Given the description of an element on the screen output the (x, y) to click on. 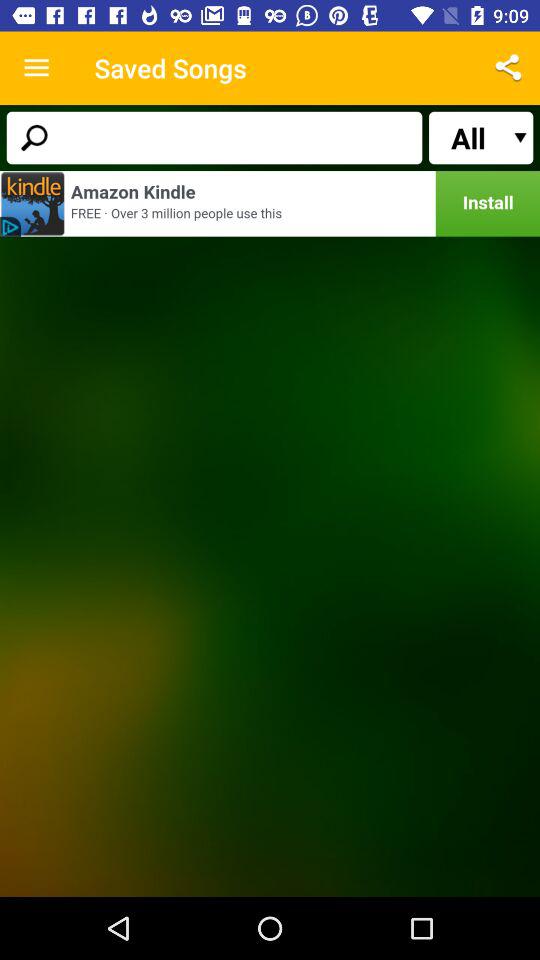
search (214, 137)
